Given the description of an element on the screen output the (x, y) to click on. 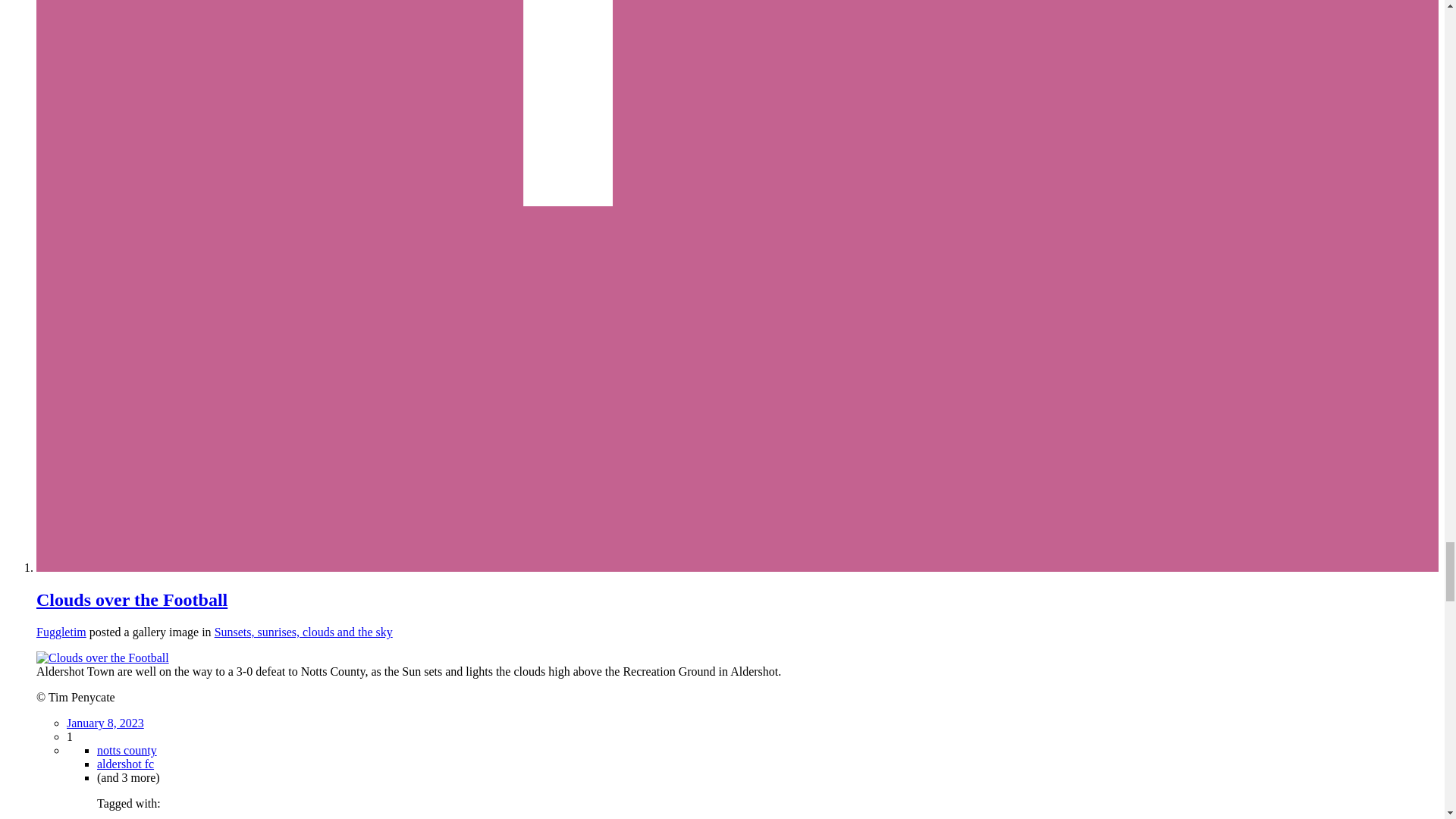
View the image Clouds over the Football (102, 657)
Find other content tagged with 'notts county' (127, 749)
Go to Fuggletim's profile (60, 631)
Find other content tagged with 'aldershot fc' (125, 763)
